Given the description of an element on the screen output the (x, y) to click on. 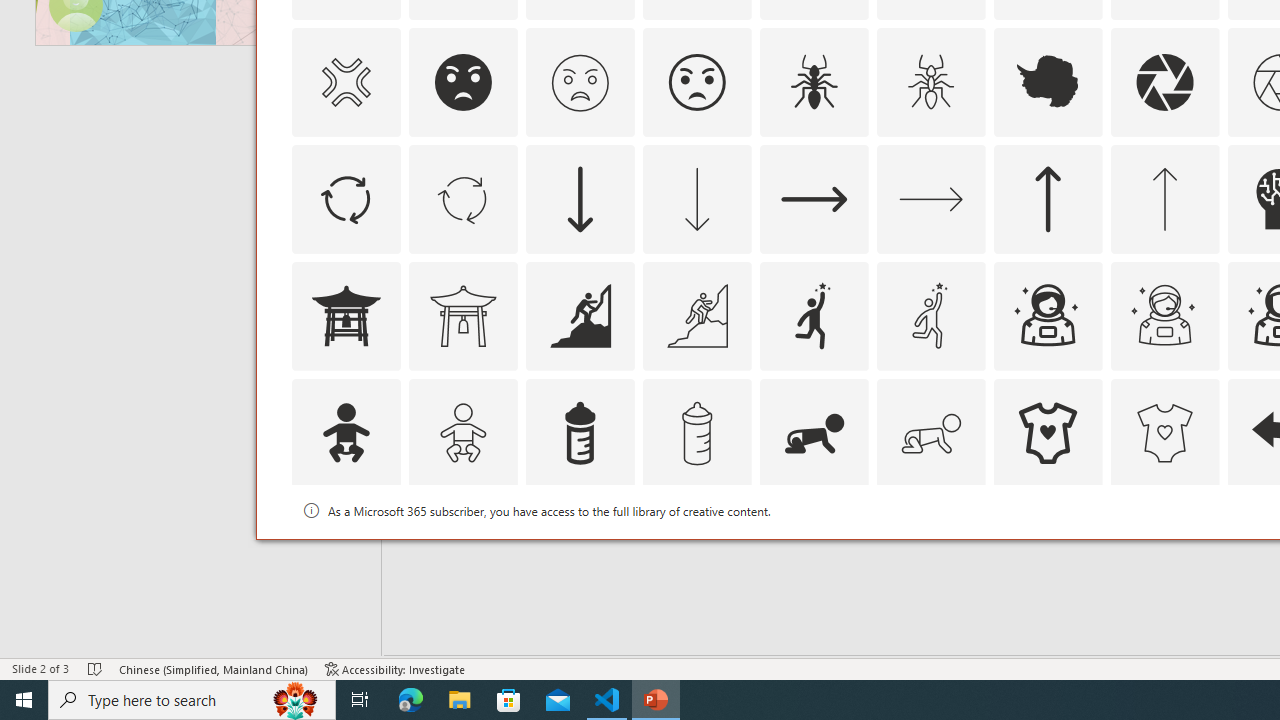
AutomationID: Icons_ArrowDown_M (696, 198)
AutomationID: Icons_Badge2 (463, 550)
AutomationID: Icons_AngerSymbol_M (345, 82)
AutomationID: Icons_Antarctica (1048, 82)
AutomationID: Icons_AngryFace (463, 82)
AutomationID: Icons_Aspiration_M (696, 316)
AutomationID: Icons (1048, 550)
AutomationID: Icons_BabyBottle (579, 432)
AutomationID: Icons_Aspiration (579, 316)
Thumbnail (1204, 511)
